Given the description of an element on the screen output the (x, y) to click on. 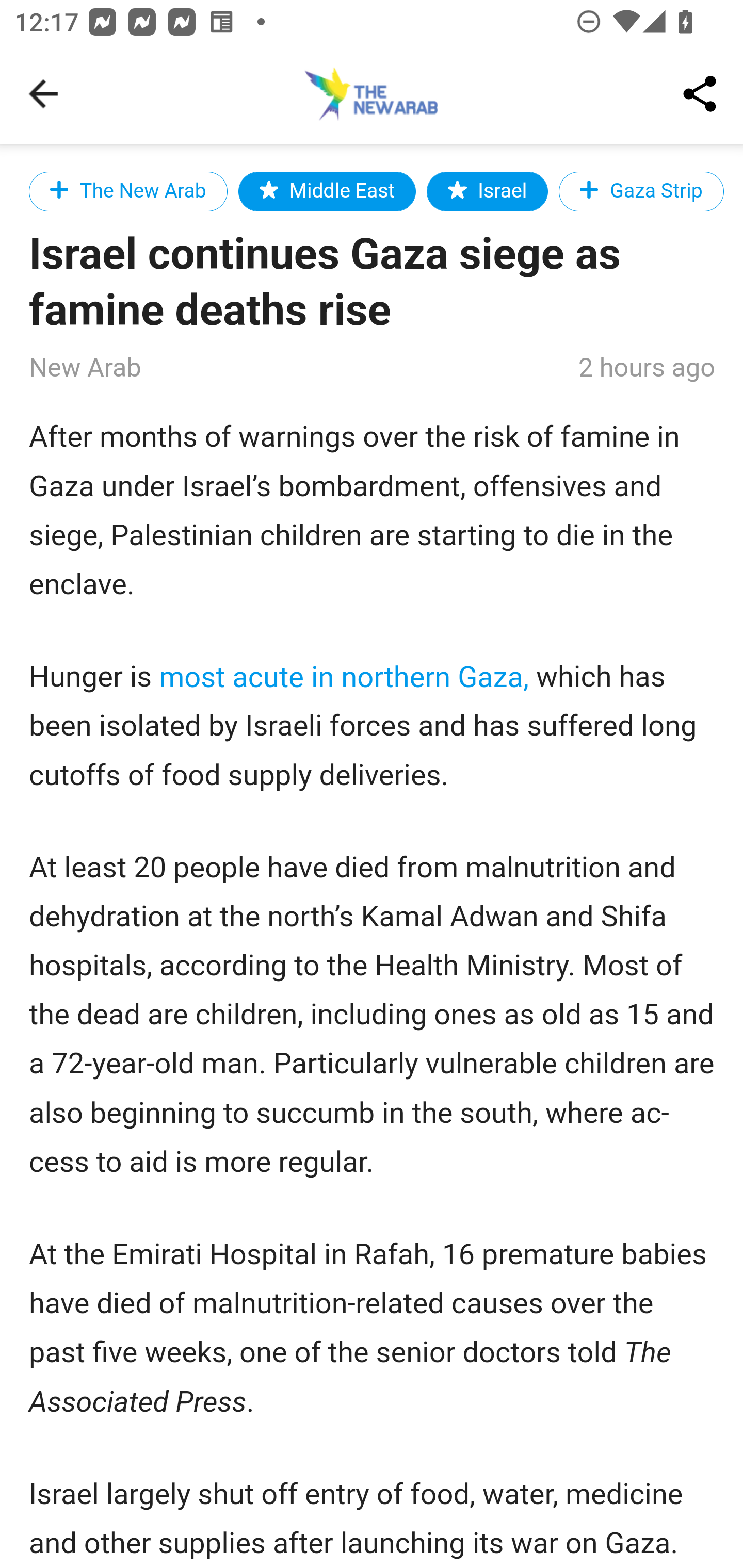
The New Arab (128, 191)
Middle East (326, 191)
Israel (487, 191)
Gaza Strip (640, 191)
most acute in northern Gaza, (345, 676)
